Given the description of an element on the screen output the (x, y) to click on. 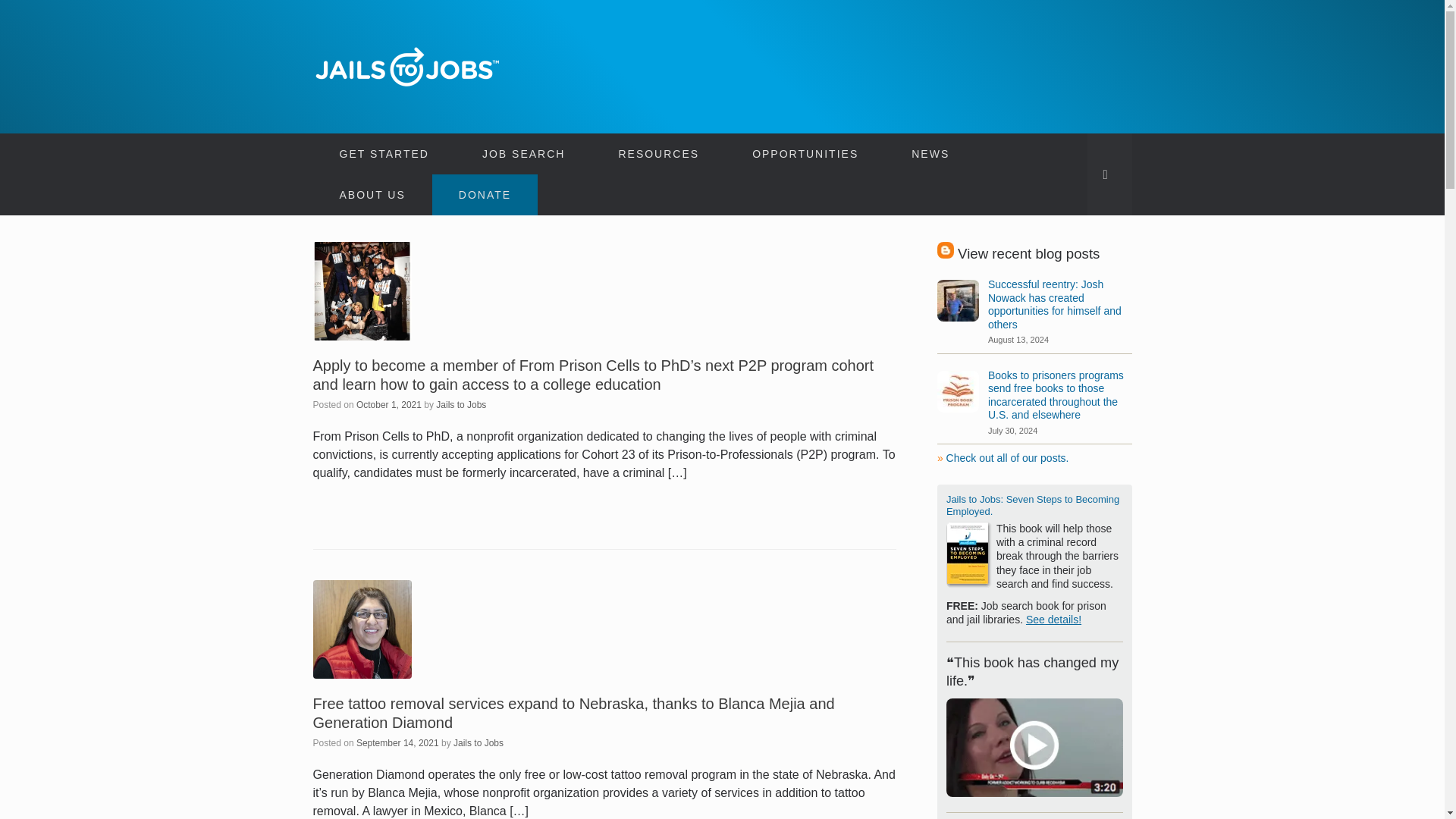
View all posts by Jails to Jobs (477, 742)
5:36 pm (389, 403)
GET STARTED (383, 153)
RESOURCES (658, 153)
OPPORTUNITIES (805, 153)
JOB SEARCH (523, 153)
1:00 am (397, 742)
Jails to Jobs (407, 66)
View all posts by Jails to Jobs (460, 403)
